Given the description of an element on the screen output the (x, y) to click on. 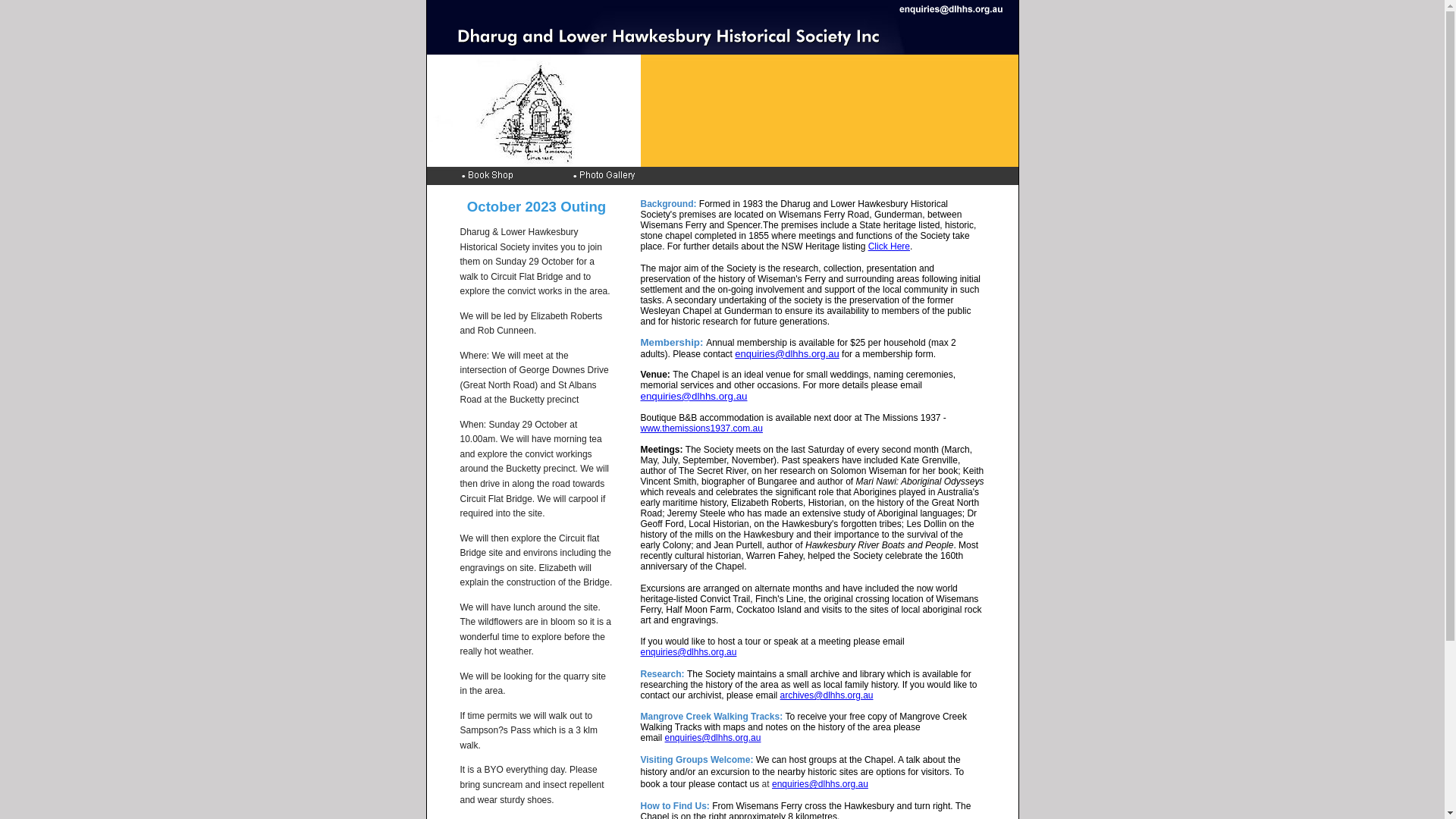
www.themissions1937.com.au Element type: text (701, 428)
enquiries@dlhhs.org.au Element type: text (819, 783)
Book Shop Element type: hover (515, 175)
enquiries@dlhhs.org.au Element type: text (786, 353)
enquiries@dlhhs.org.au Element type: hover (721, 9)
enquiries@dlhhs.org.au Element type: text (713, 737)
Photo Gallery Element type: hover (627, 175)
archives@dlhhs.org.au Element type: text (826, 695)
enquiries@dlhhs.org.au Element type: text (693, 395)
enquiries@dlhhs.org.au Element type: text (688, 651)
Click Here Element type: text (889, 246)
